Given the description of an element on the screen output the (x, y) to click on. 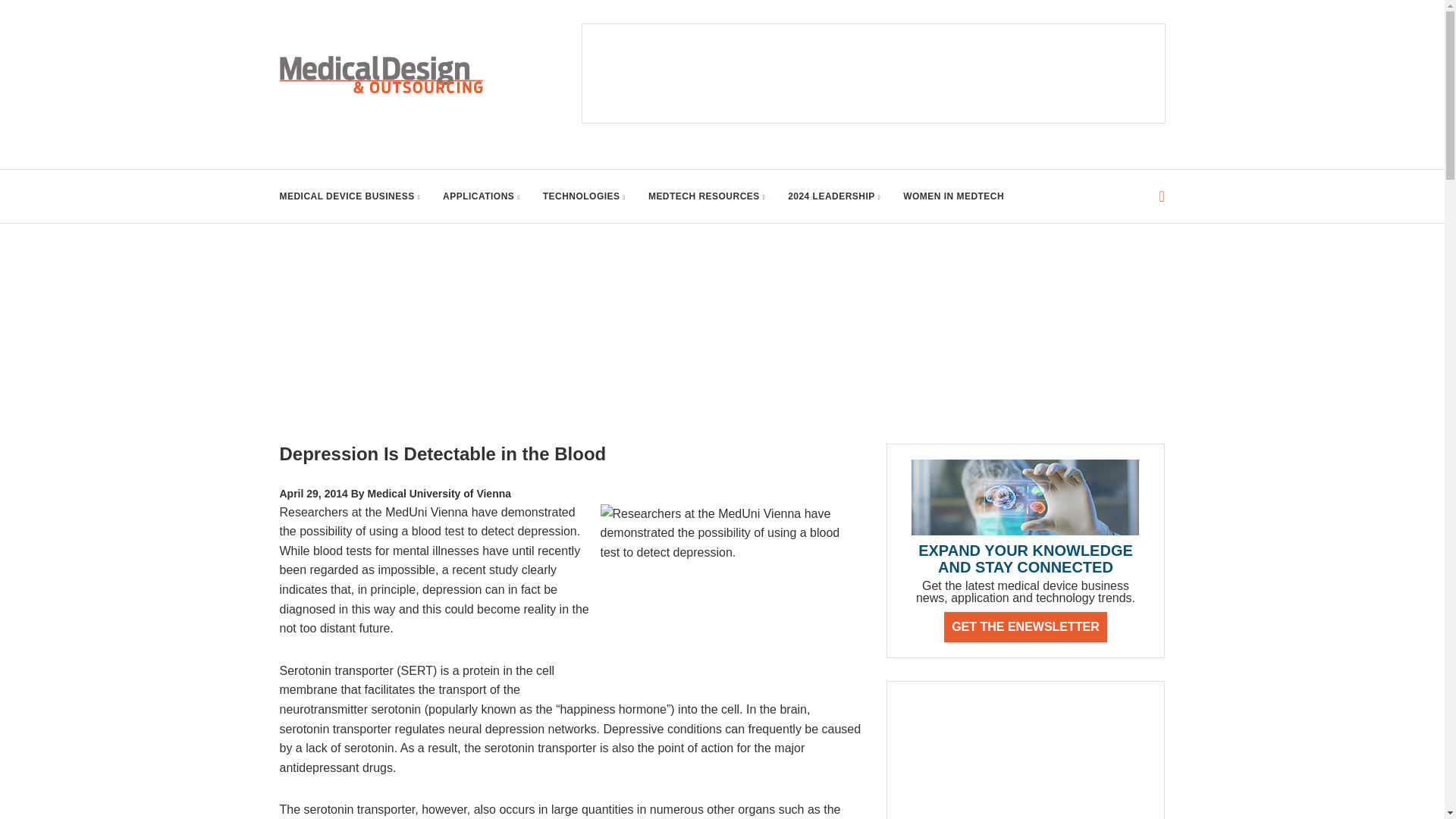
Medical Design and Outsourcing (380, 73)
3rd party ad content (873, 73)
3rd party ad content (1024, 757)
MEDTECH RESOURCES (706, 195)
APPLICATIONS (480, 195)
TECHNOLOGIES (584, 195)
MEDICAL DEVICE BUSINESS (349, 195)
